Given the description of an element on the screen output the (x, y) to click on. 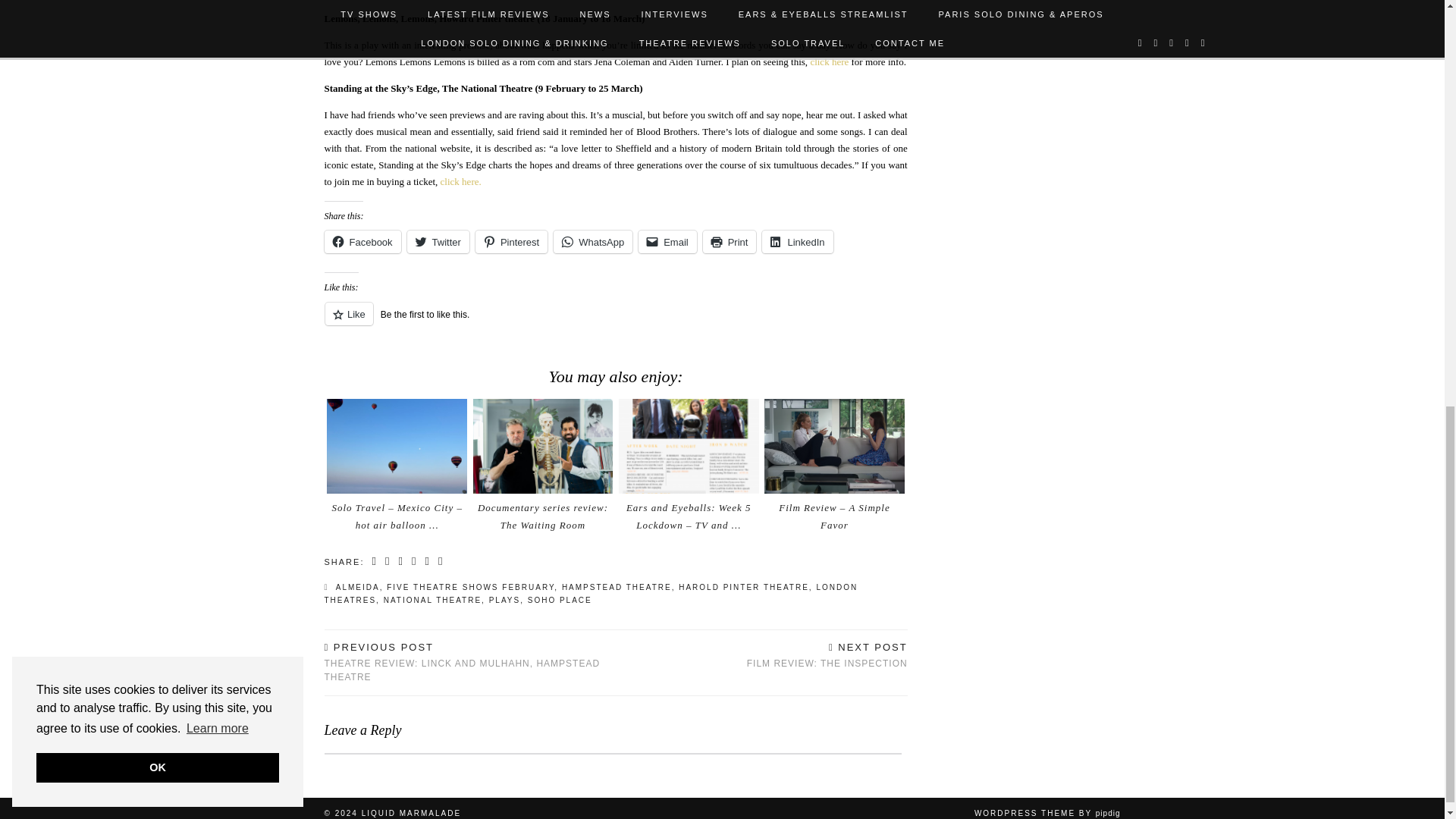
Click to share on Twitter (437, 241)
Click to share on Facebook (362, 241)
